Given the description of an element on the screen output the (x, y) to click on. 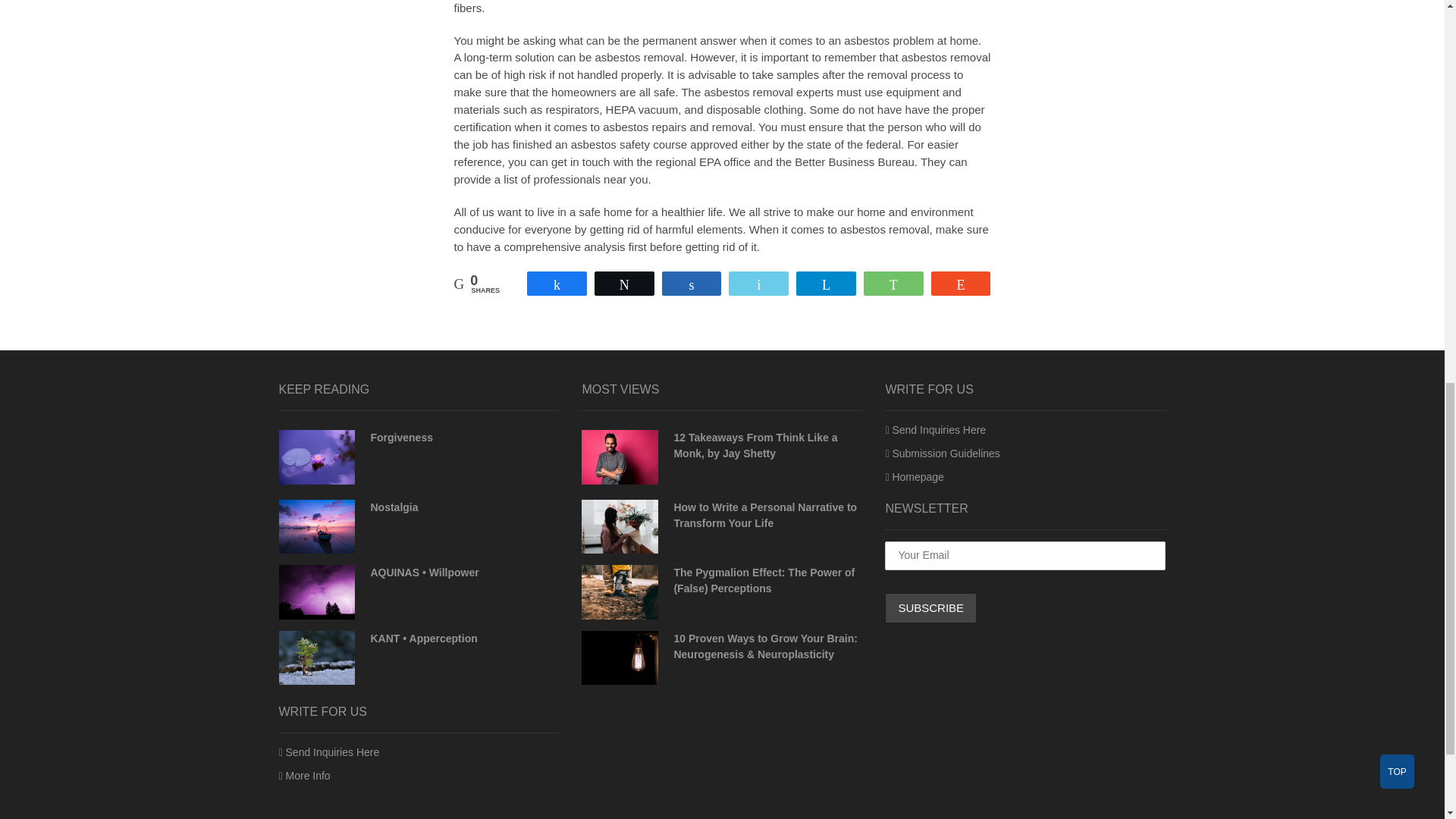
How to Write a Personal Narrative to Transform Your Life (619, 526)
12 Takeaways From Think Like a Monk, by Jay Shetty (754, 445)
Nostalgia (393, 507)
Send Inquiries Here (329, 752)
Submission Guidelines (941, 453)
Forgiveness (317, 456)
Nostalgia (317, 526)
Mail Us (329, 752)
Forgiveness (400, 437)
How to Write a Personal Narrative to Transform Your Life (764, 515)
12 Takeaways From Think Like a Monk, by Jay Shetty (754, 445)
Homepage (914, 476)
Our Address (304, 775)
Forgiveness (400, 437)
More Info (304, 775)
